Given the description of an element on the screen output the (x, y) to click on. 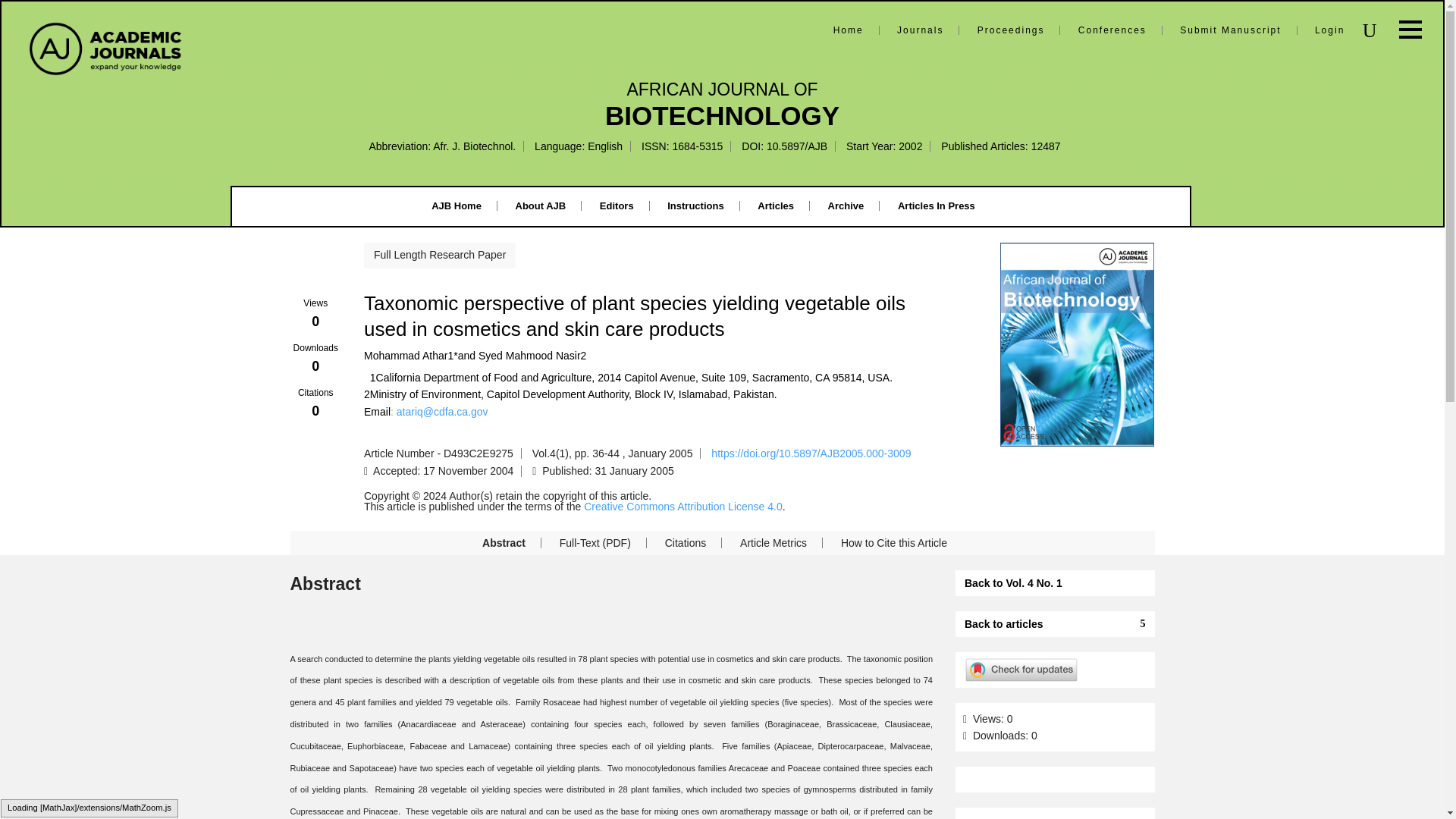
Articles in Press (936, 205)
Editors (616, 205)
Articles (775, 205)
Instructions for Authors (694, 205)
AJB Home (455, 205)
About Journal (540, 205)
Archive (846, 205)
CrossRef Citations (315, 403)
